Given the description of an element on the screen output the (x, y) to click on. 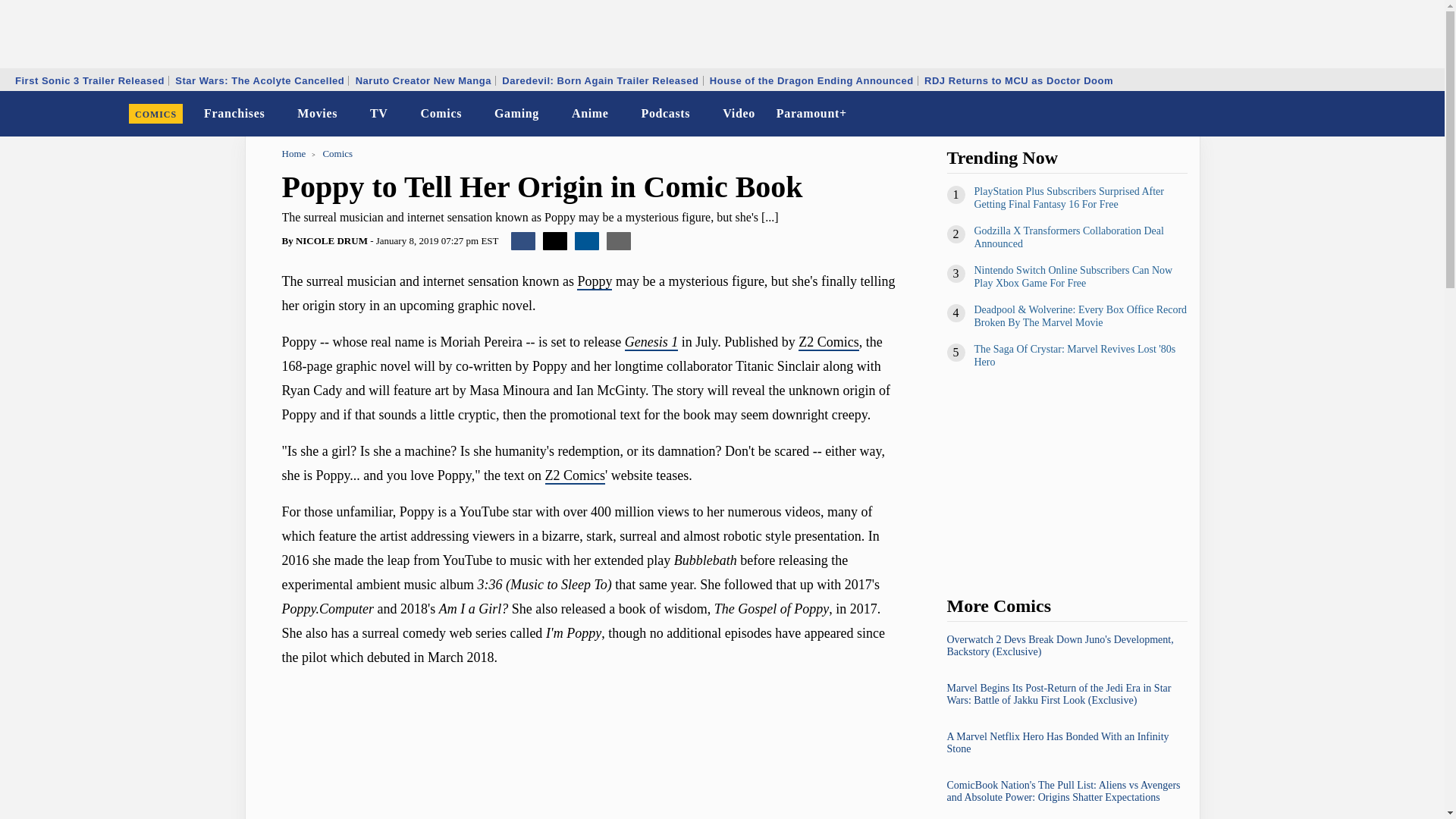
Movies (317, 113)
RDJ Returns to MCU as Doctor Doom (1018, 80)
First Sonic 3 Trailer Released (89, 80)
House of the Dragon Ending Announced (811, 80)
Search (1422, 114)
COMICS (155, 113)
Daredevil: Born Again Trailer Released (599, 80)
Dark Mode (1394, 113)
Star Wars: The Acolyte Cancelled (259, 80)
Naruto Creator New Manga (423, 80)
